Given the description of an element on the screen output the (x, y) to click on. 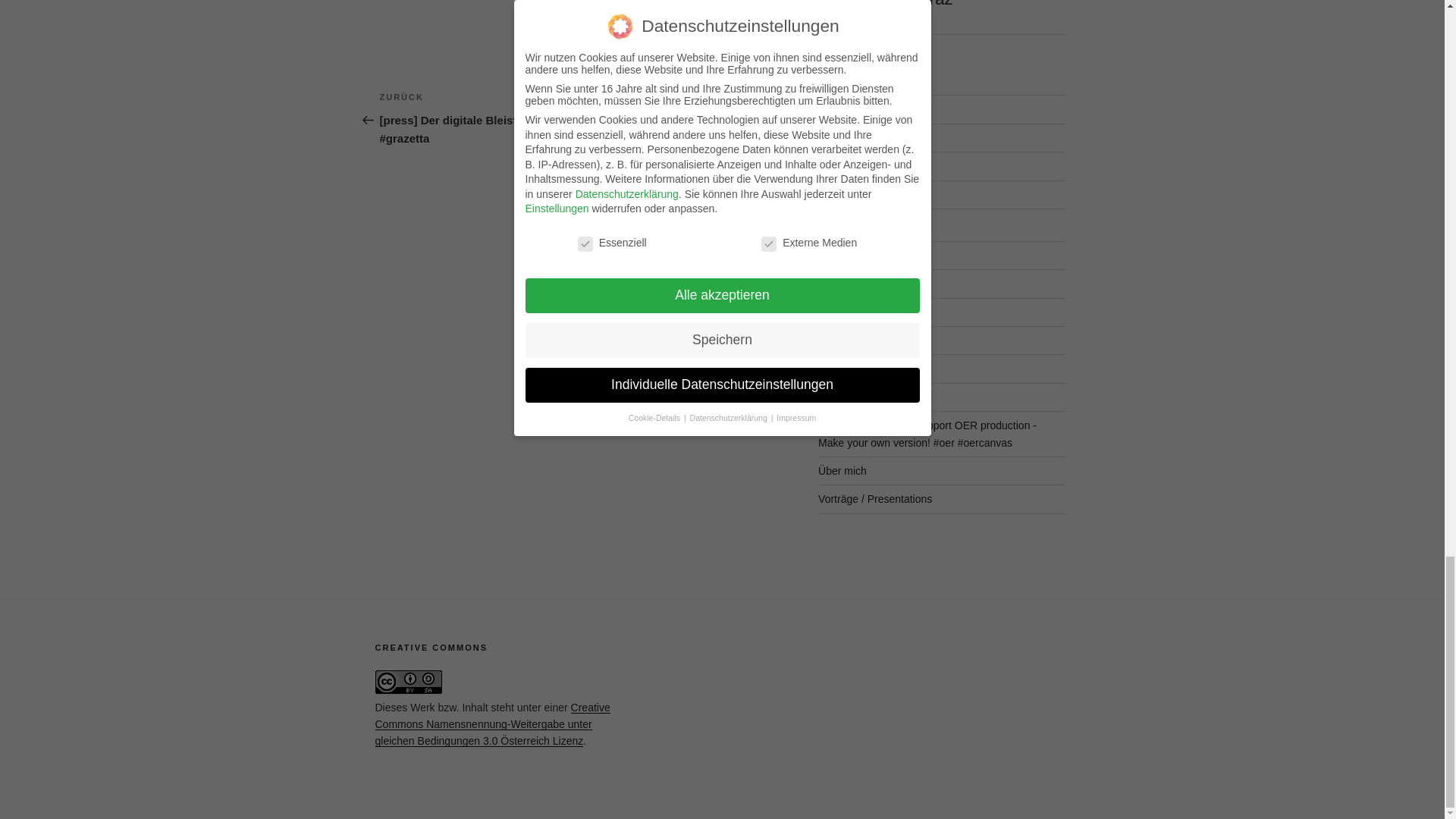
Kommentar abschicken (695, 9)
Kommentar abschicken (695, 9)
